Given the description of an element on the screen output the (x, y) to click on. 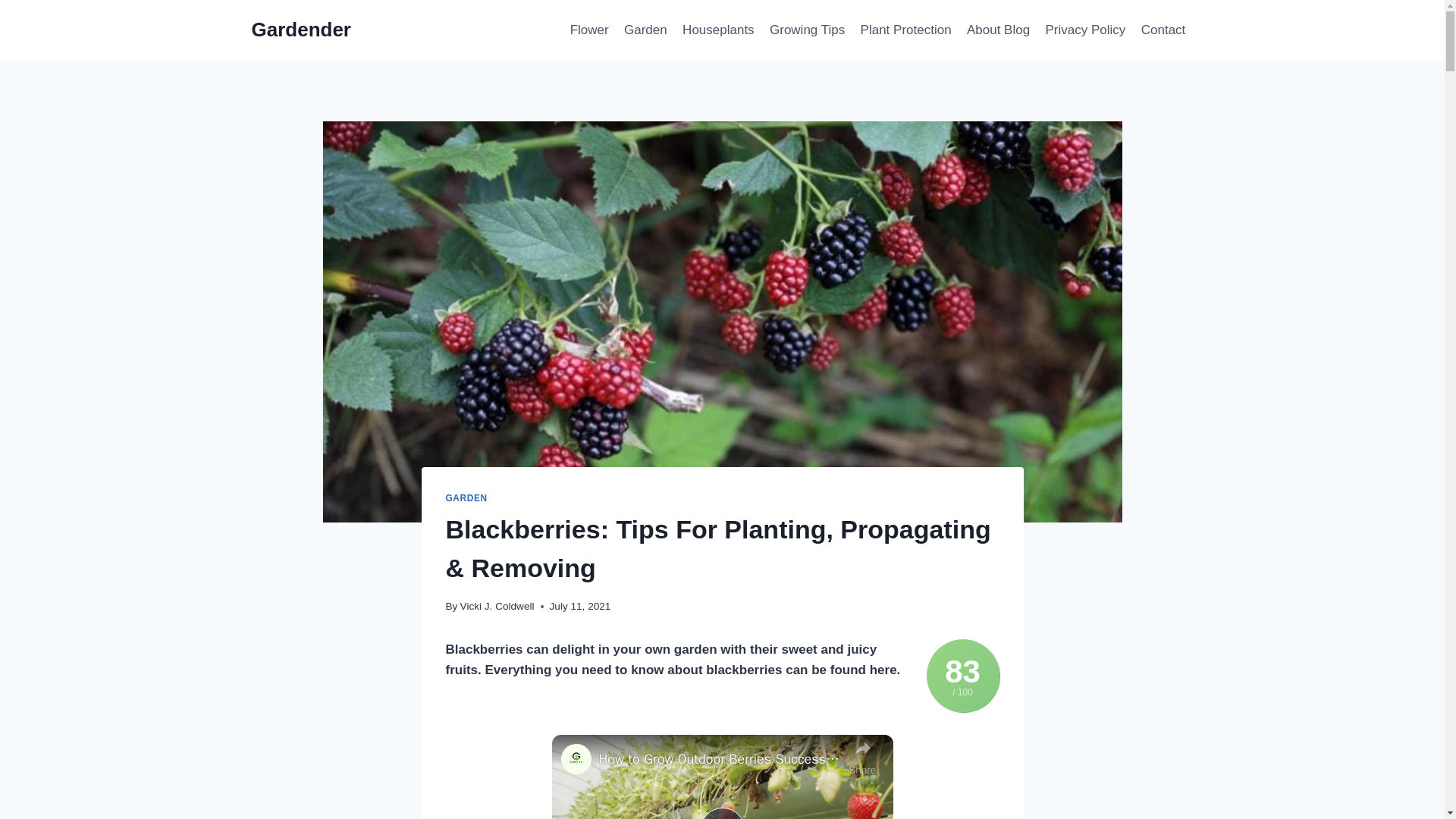
Play Video (721, 813)
Gardender (301, 29)
Privacy Policy (1084, 30)
Vicki J. Coldwell (497, 605)
Houseplants (718, 30)
Play Video (721, 813)
Plant Protection (904, 30)
About Blog (998, 30)
Garden (645, 30)
Growing Tips (807, 30)
